Given the description of an element on the screen output the (x, y) to click on. 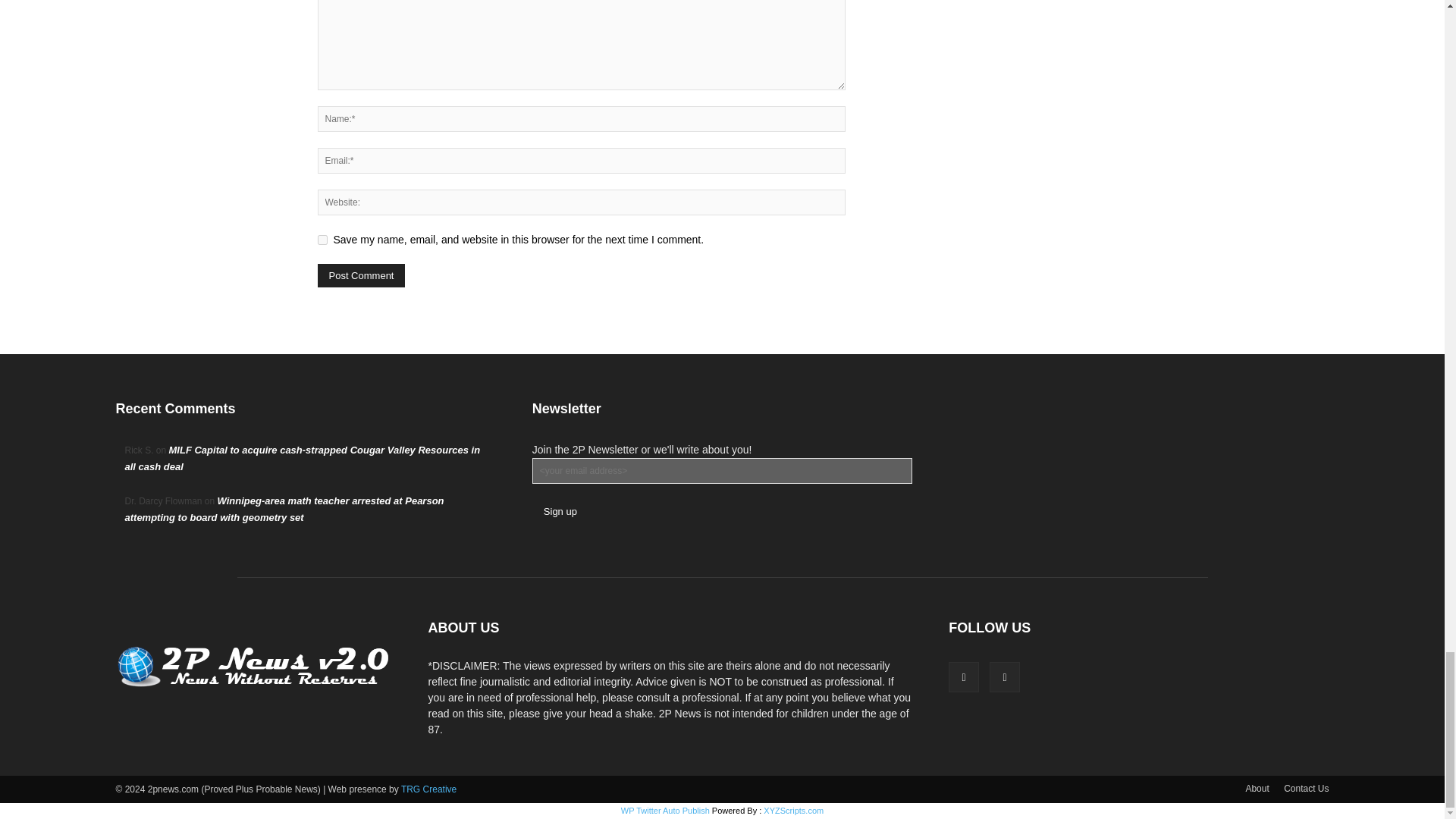
Post Comment (360, 275)
yes (321, 239)
Sign up (560, 511)
